Given the description of an element on the screen output the (x, y) to click on. 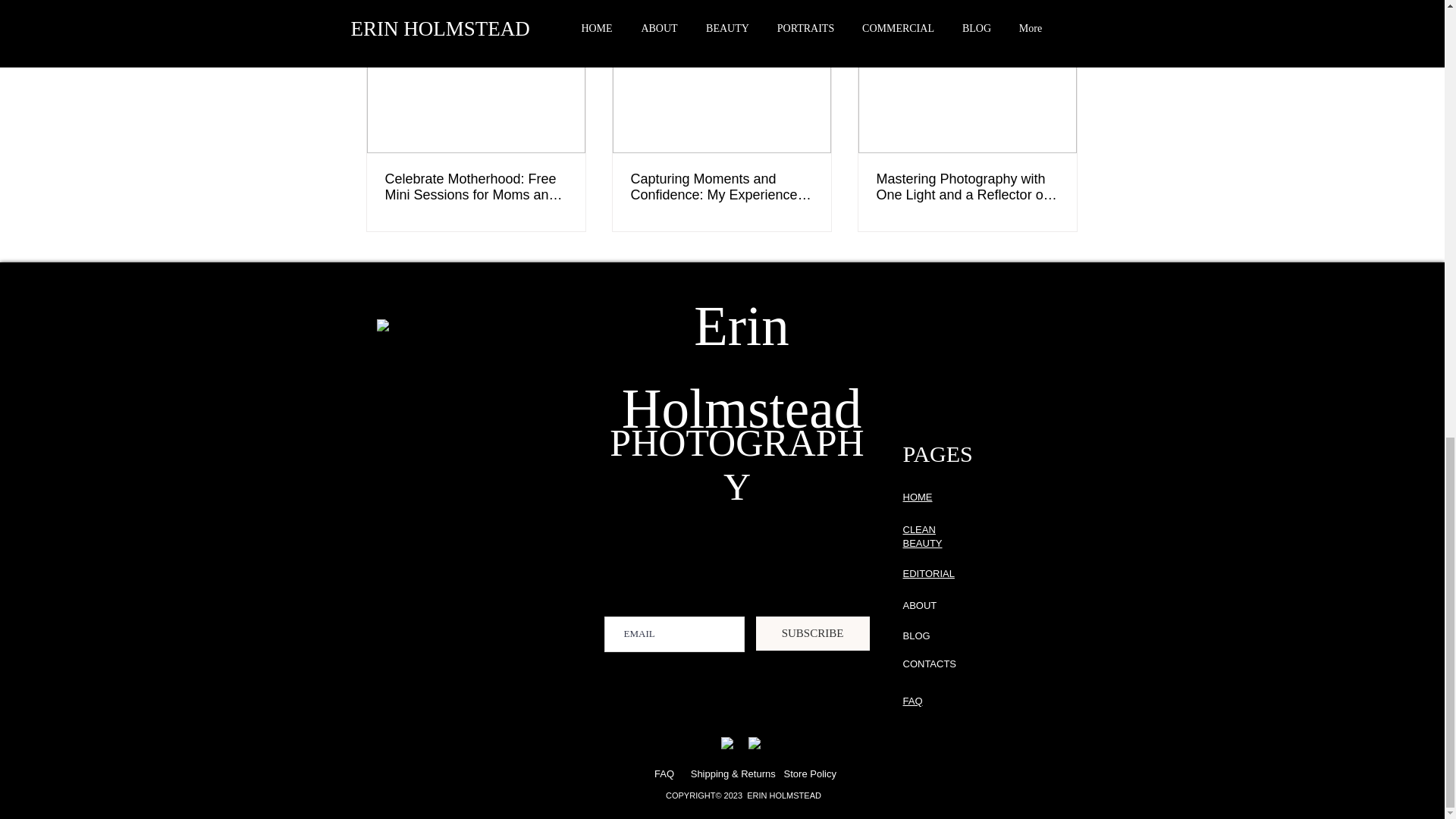
See All (1061, 7)
EDITORIAL (927, 573)
Erin Holmstead (741, 365)
CONTACTS (929, 663)
BLOG (916, 635)
FAQ       (671, 773)
SUBSCRIBE (812, 633)
FAQ (911, 700)
ABOUT (919, 604)
HOME (916, 496)
CLEAN BEAUTY (922, 536)
